Given the description of an element on the screen output the (x, y) to click on. 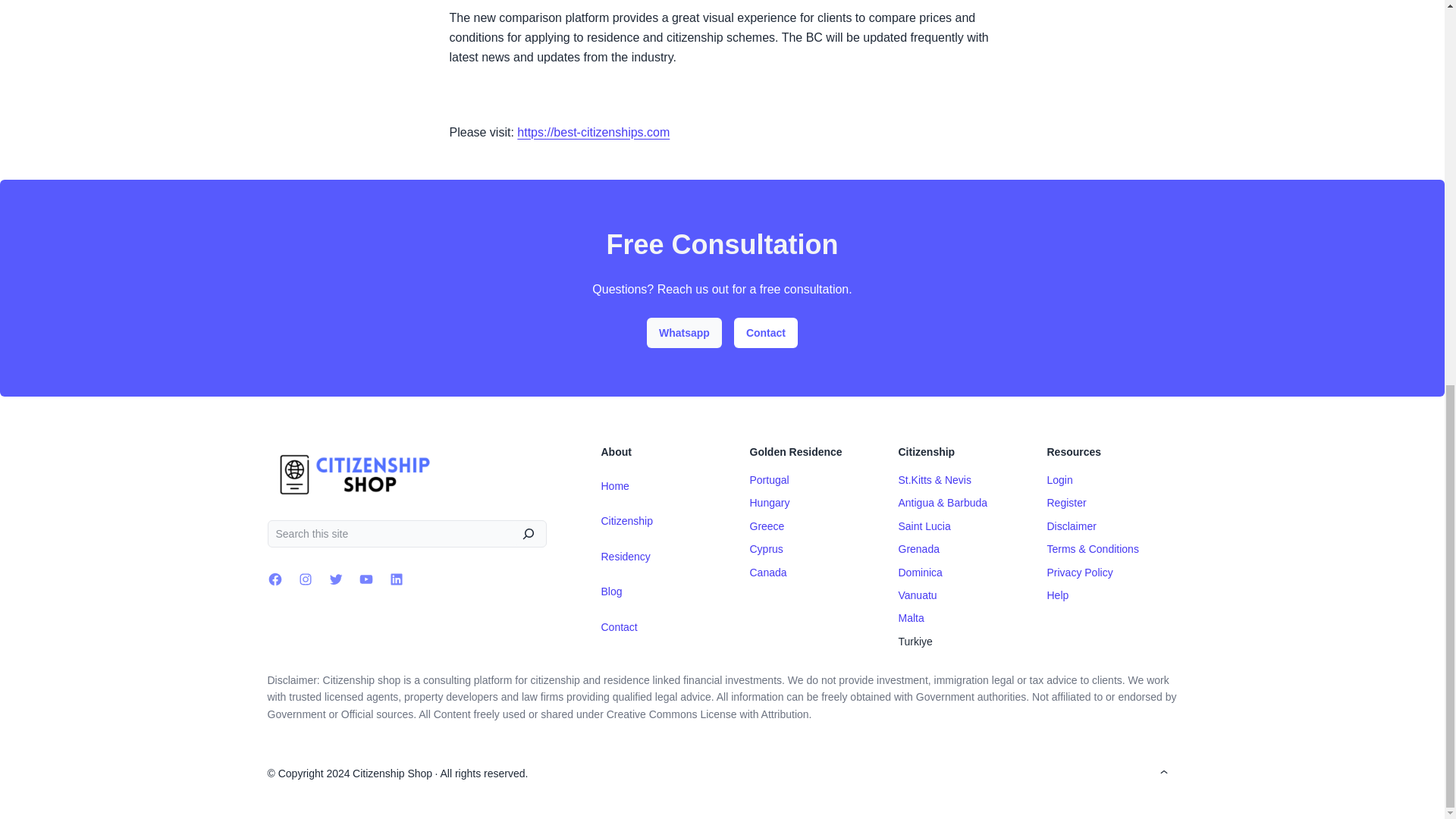
Whatsapp (684, 331)
Contact (765, 331)
